Given the description of an element on the screen output the (x, y) to click on. 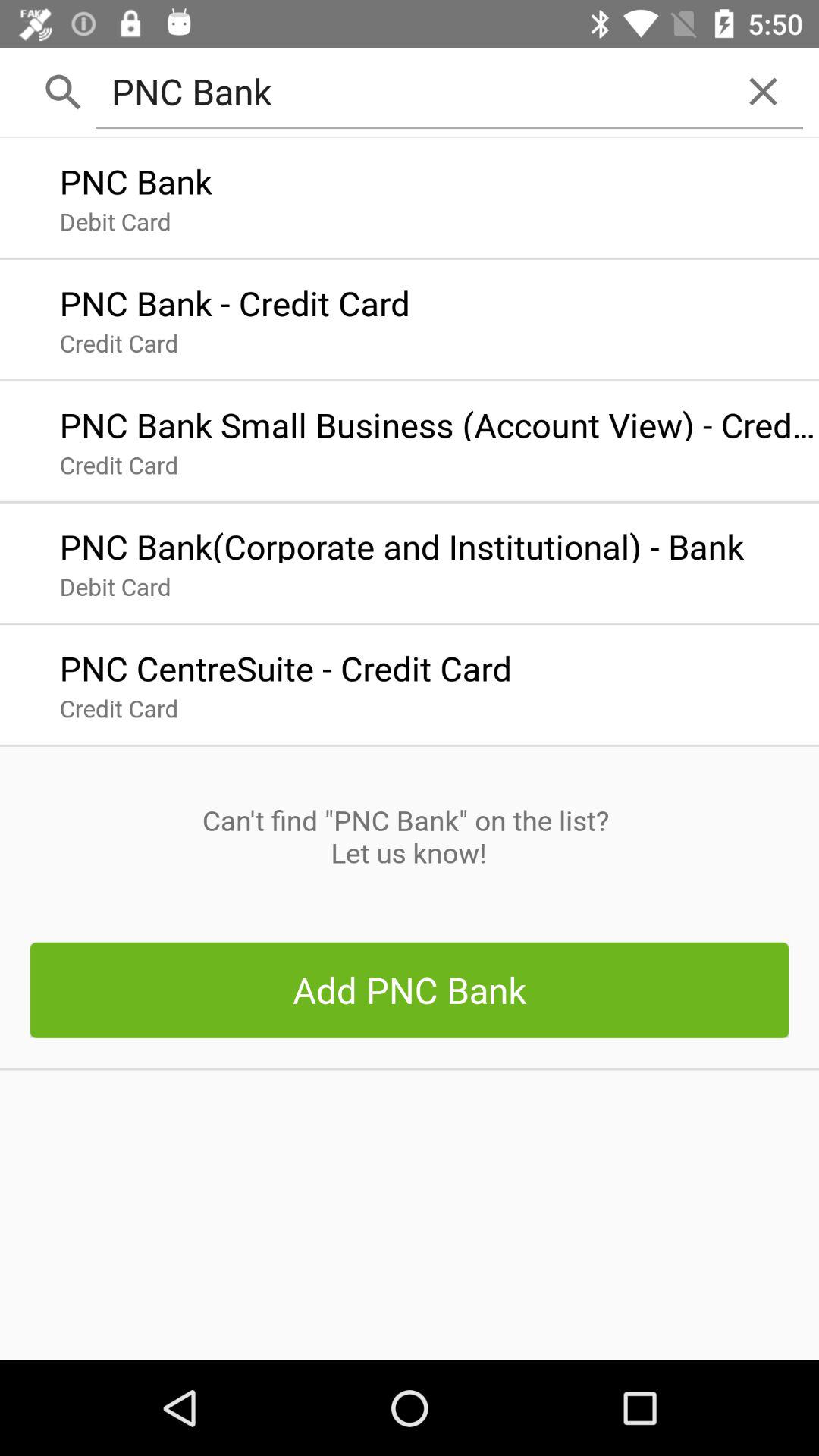
click pnc centresuite credit item (285, 664)
